Given the description of an element on the screen output the (x, y) to click on. 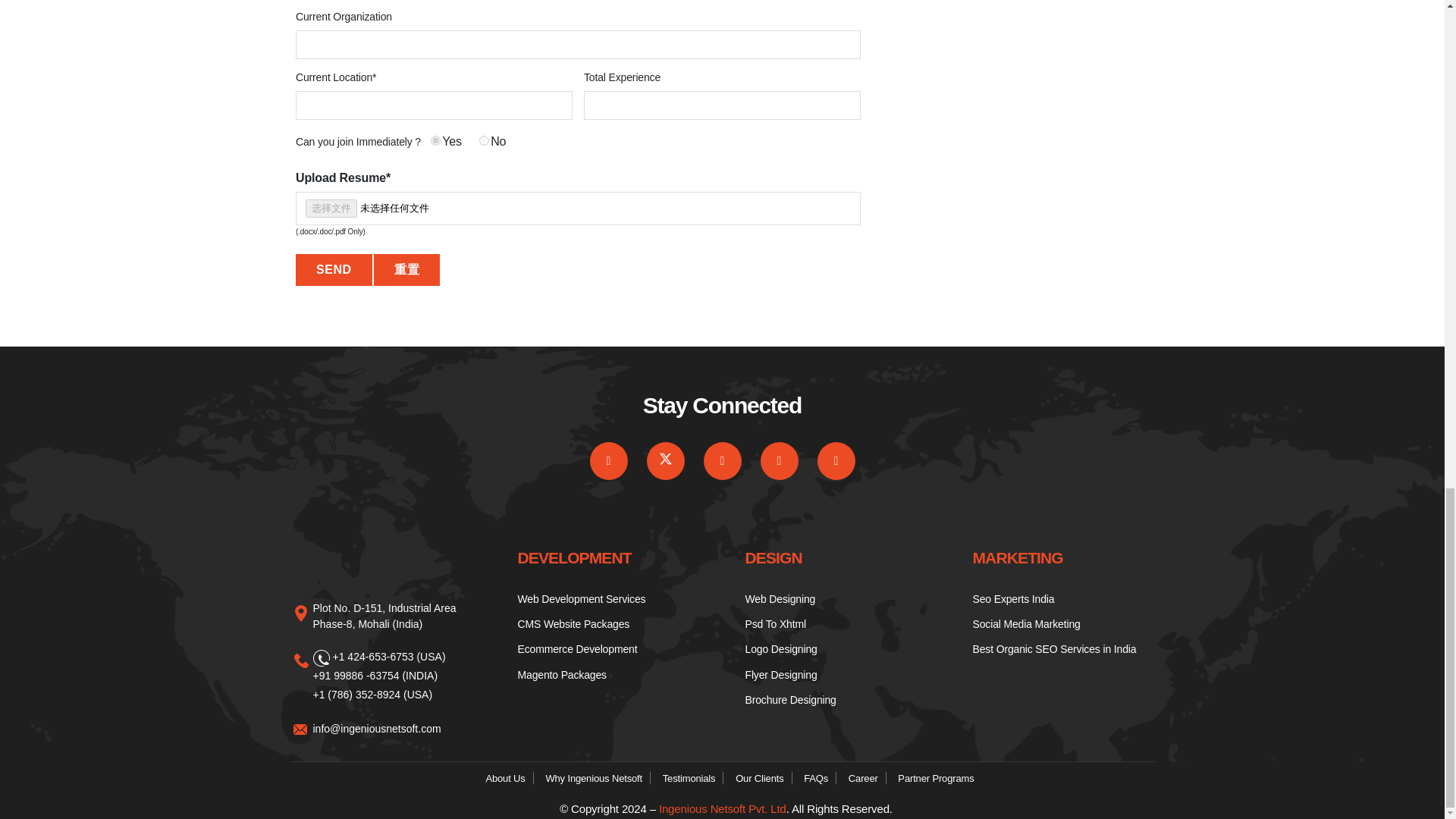
Upload Resume (577, 208)
no (484, 140)
yes (435, 140)
Send (333, 269)
